Given the description of an element on the screen output the (x, y) to click on. 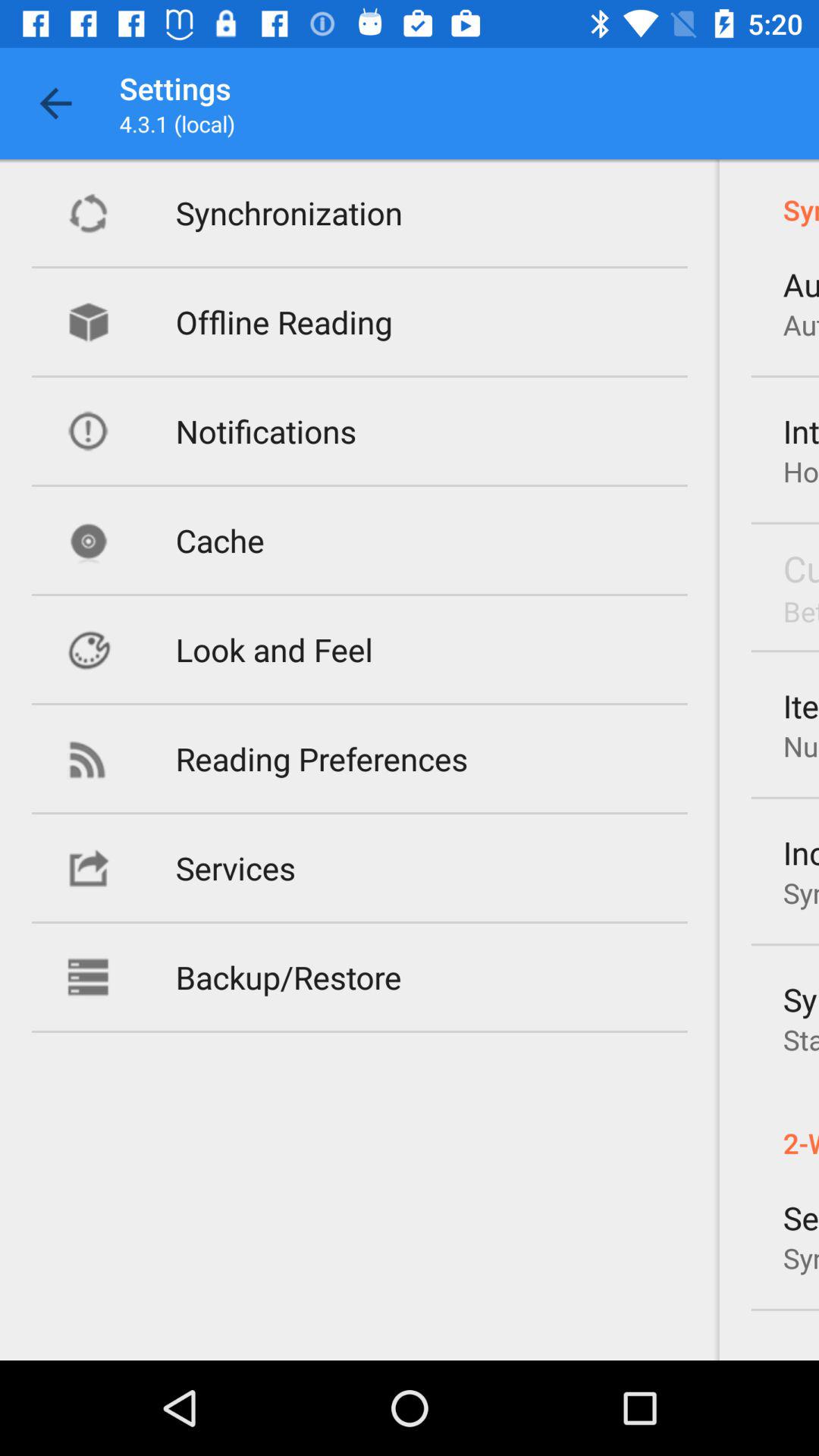
choose item next to the settings (55, 103)
